Given the description of an element on the screen output the (x, y) to click on. 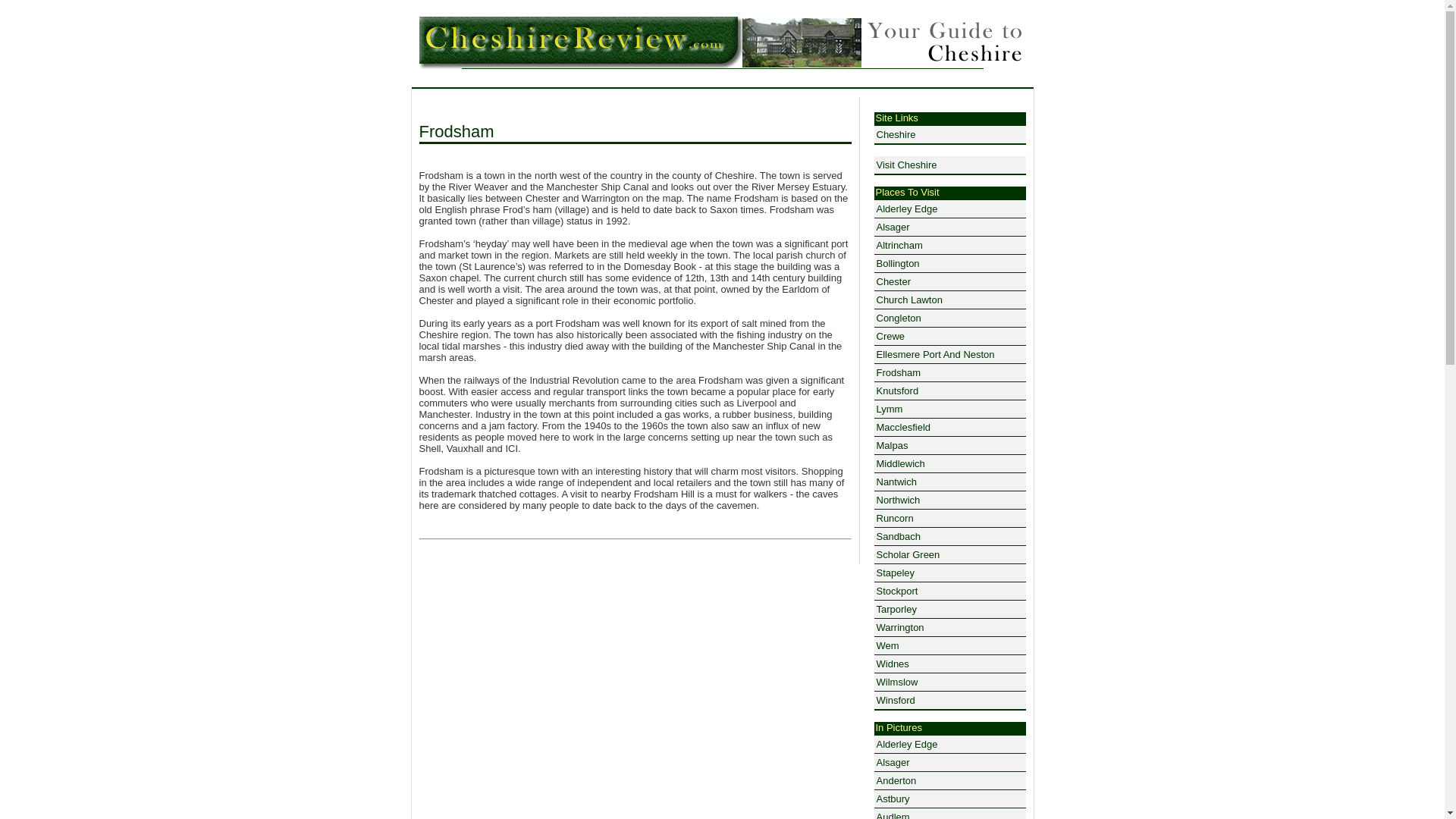
Scholar Green (949, 555)
Warrington (949, 628)
Northwich (949, 500)
Middlewich (949, 464)
Wem (949, 646)
Runcorn (949, 518)
Astbury (949, 799)
Knutsford (949, 391)
Macclesfield (949, 427)
Crewe (949, 336)
